Given the description of an element on the screen output the (x, y) to click on. 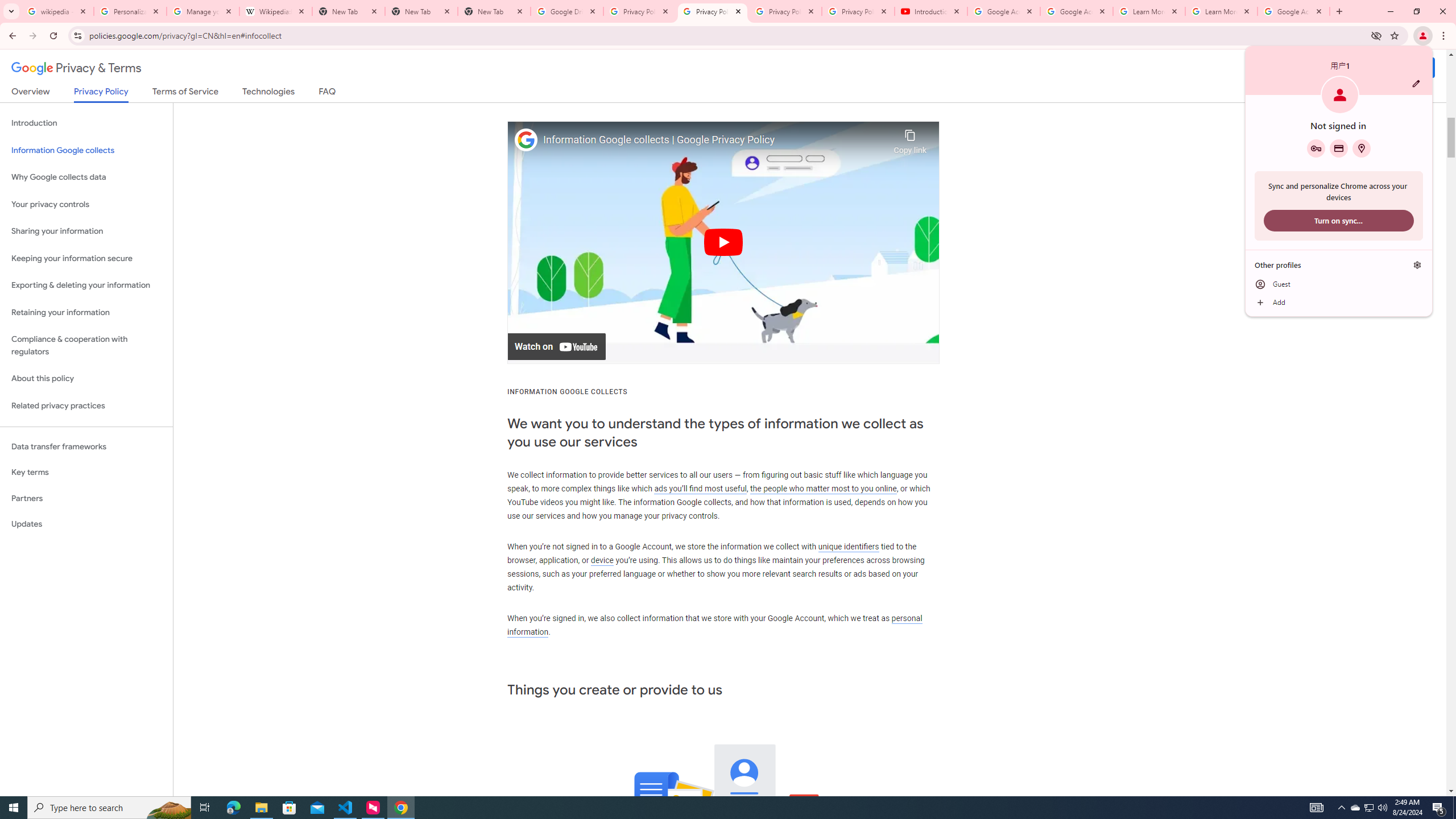
Google Account Help (1076, 11)
Google Password Manager (1315, 148)
Google Account Help (1003, 11)
personal information (714, 625)
Personalization & Google Search results - Google Search Help (129, 11)
Start (13, 807)
Google Account (1293, 11)
Why Google collects data (86, 176)
Guest (1338, 284)
Introduction | Google Privacy Policy - YouTube (930, 11)
